Given the description of an element on the screen output the (x, y) to click on. 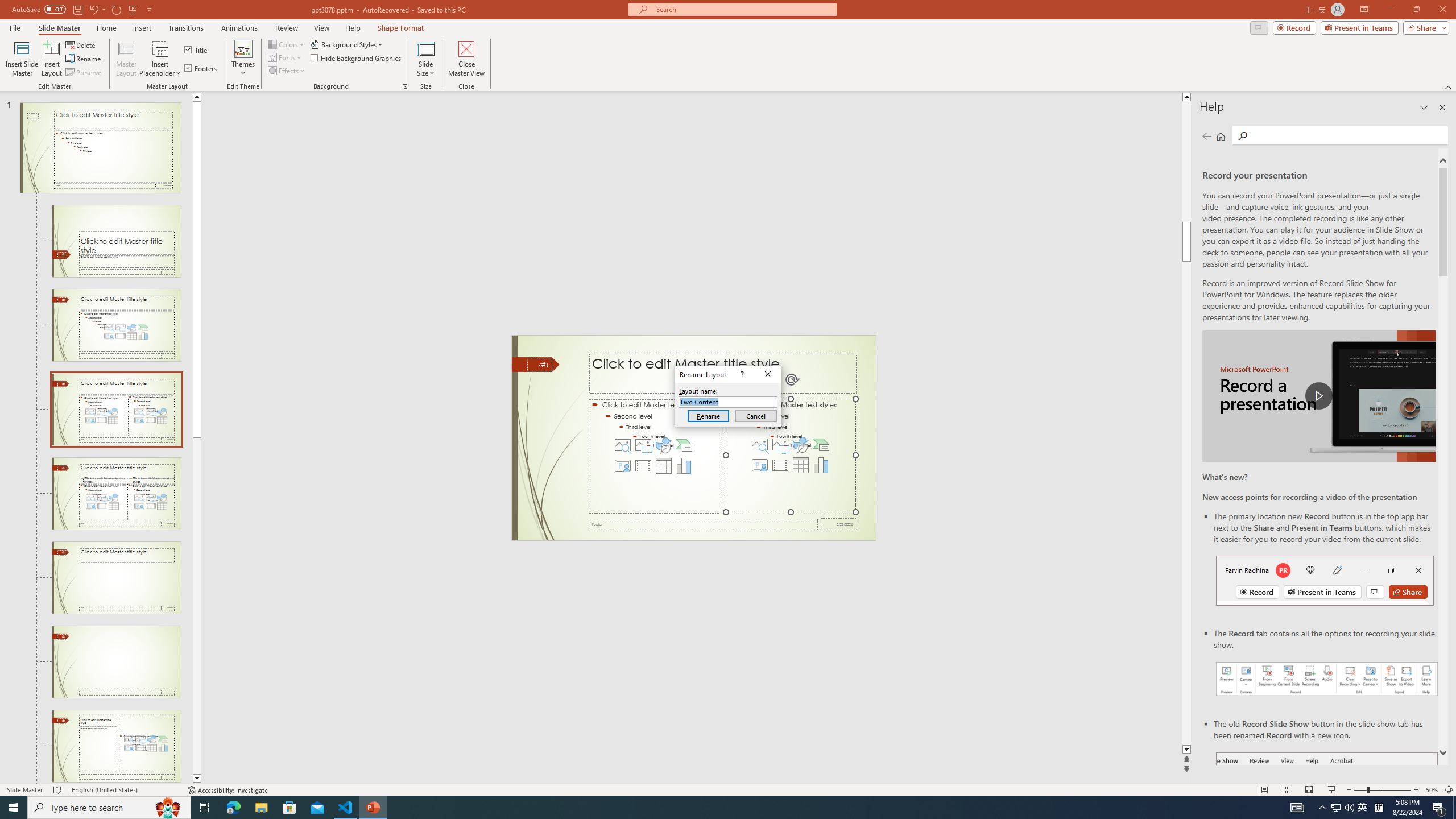
Insert Note (152, 92)
Refresh (210, 91)
Spelling and Grammar Check Errors (119, 773)
Undo <ApplyStyleToDoc>b__0 (165, 18)
